Given the description of an element on the screen output the (x, y) to click on. 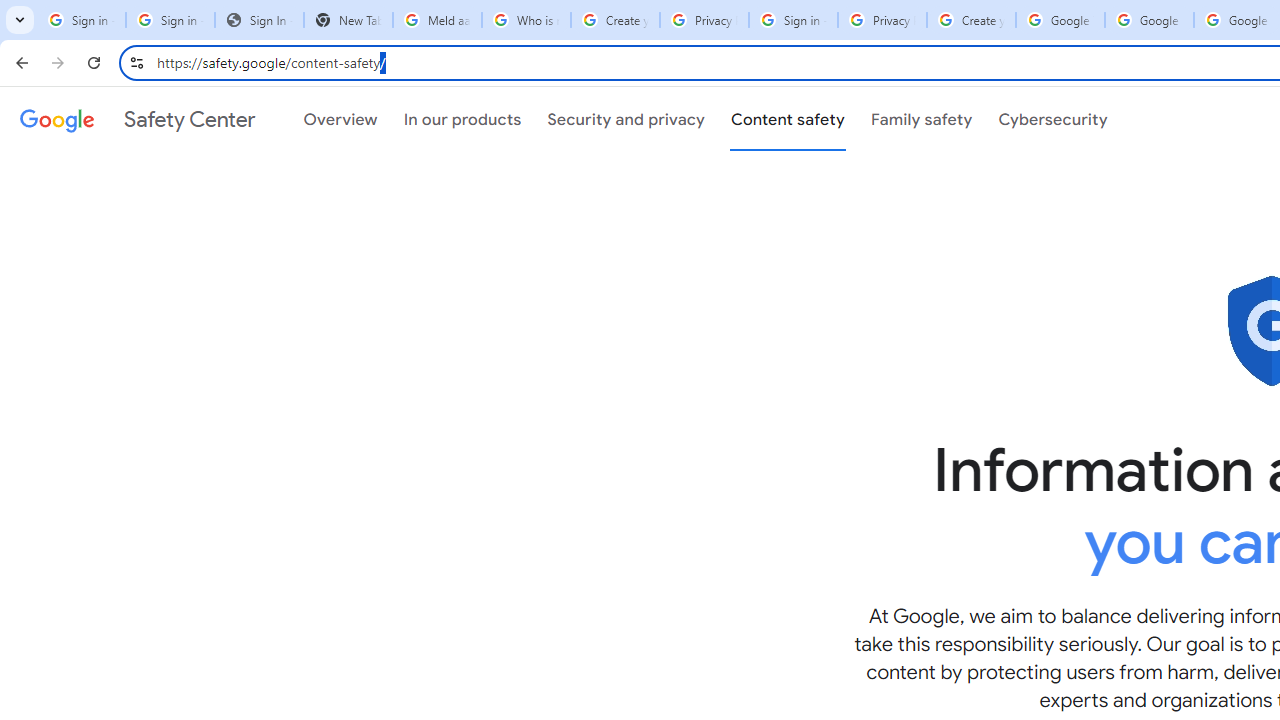
Reload (93, 62)
Security and privacy (626, 119)
Sign In - USA TODAY (259, 20)
Sign in - Google Accounts (81, 20)
Create your Google Account (615, 20)
Cybersecurity (1053, 119)
Sign in - Google Accounts (793, 20)
New Tab (347, 20)
Content safety (787, 119)
View site information (136, 62)
